Given the description of an element on the screen output the (x, y) to click on. 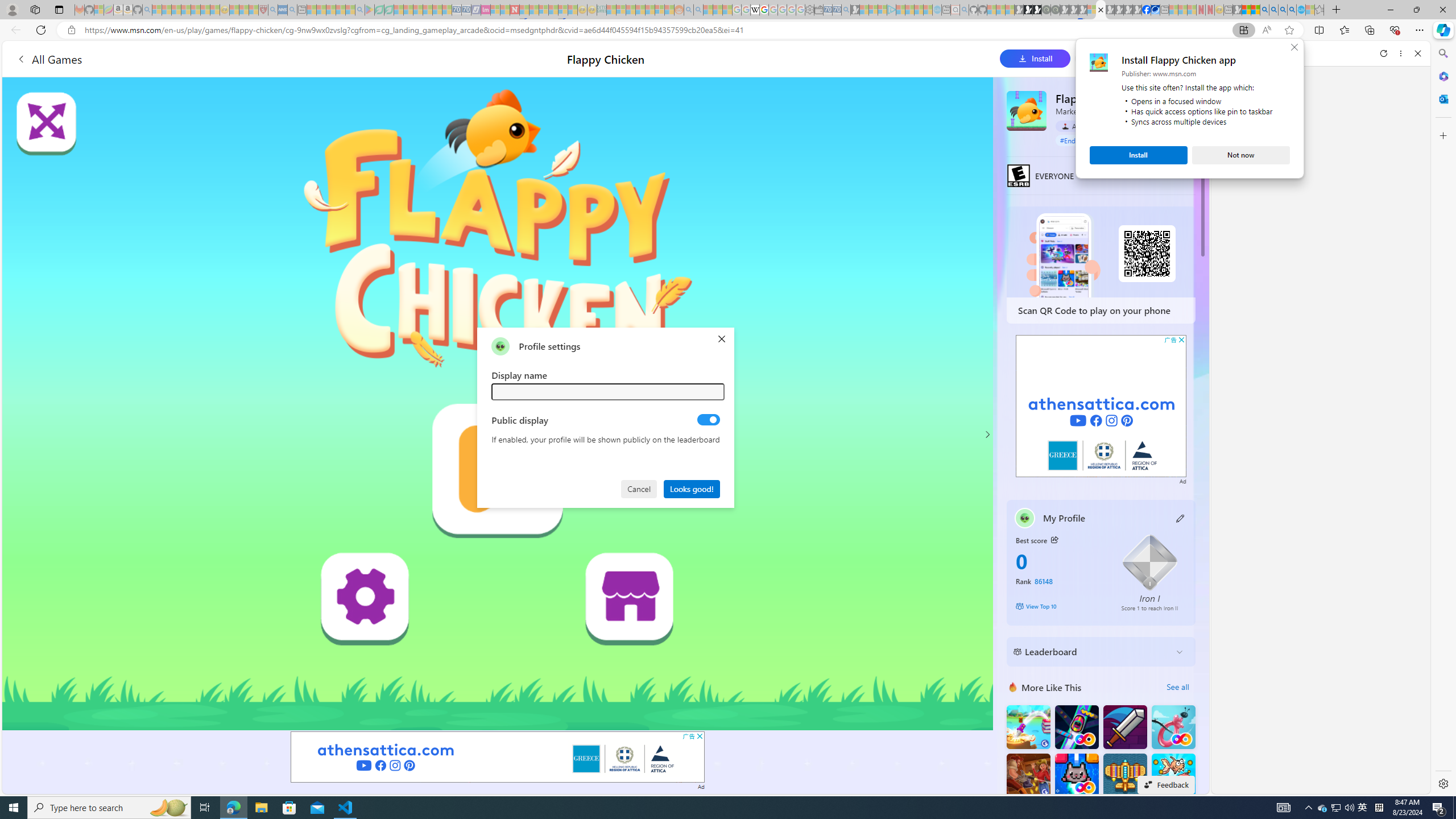
Jobs - lastminute.com Investor Portal - Sleeping (485, 9)
google - Search - Sleeping (359, 9)
Cancel (639, 488)
